Given the description of an element on the screen output the (x, y) to click on. 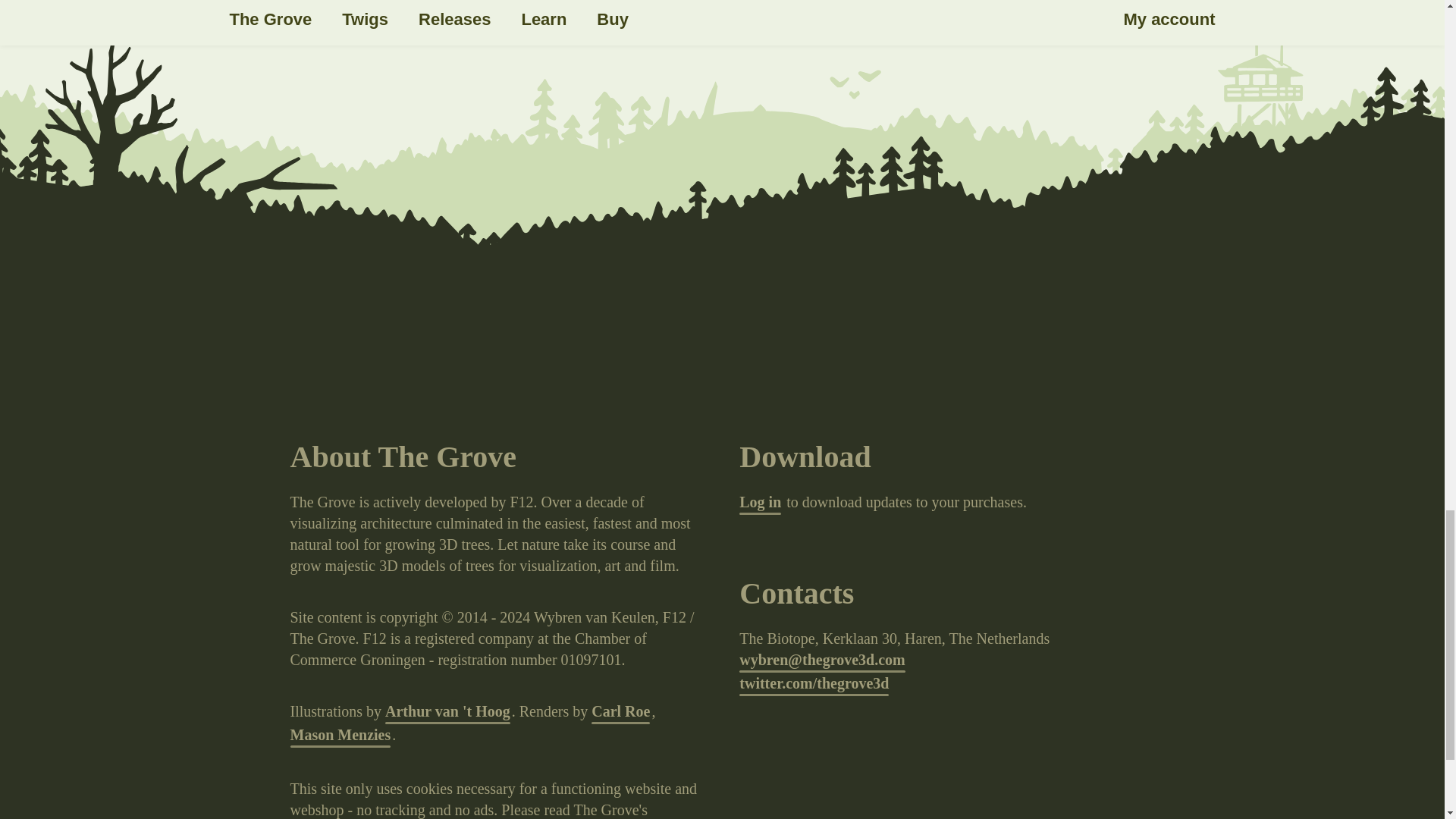
Mason Menzies (339, 735)
Log in (759, 503)
Carl Roe (620, 712)
Arthur van 't Hoog (448, 712)
